Given the description of an element on the screen output the (x, y) to click on. 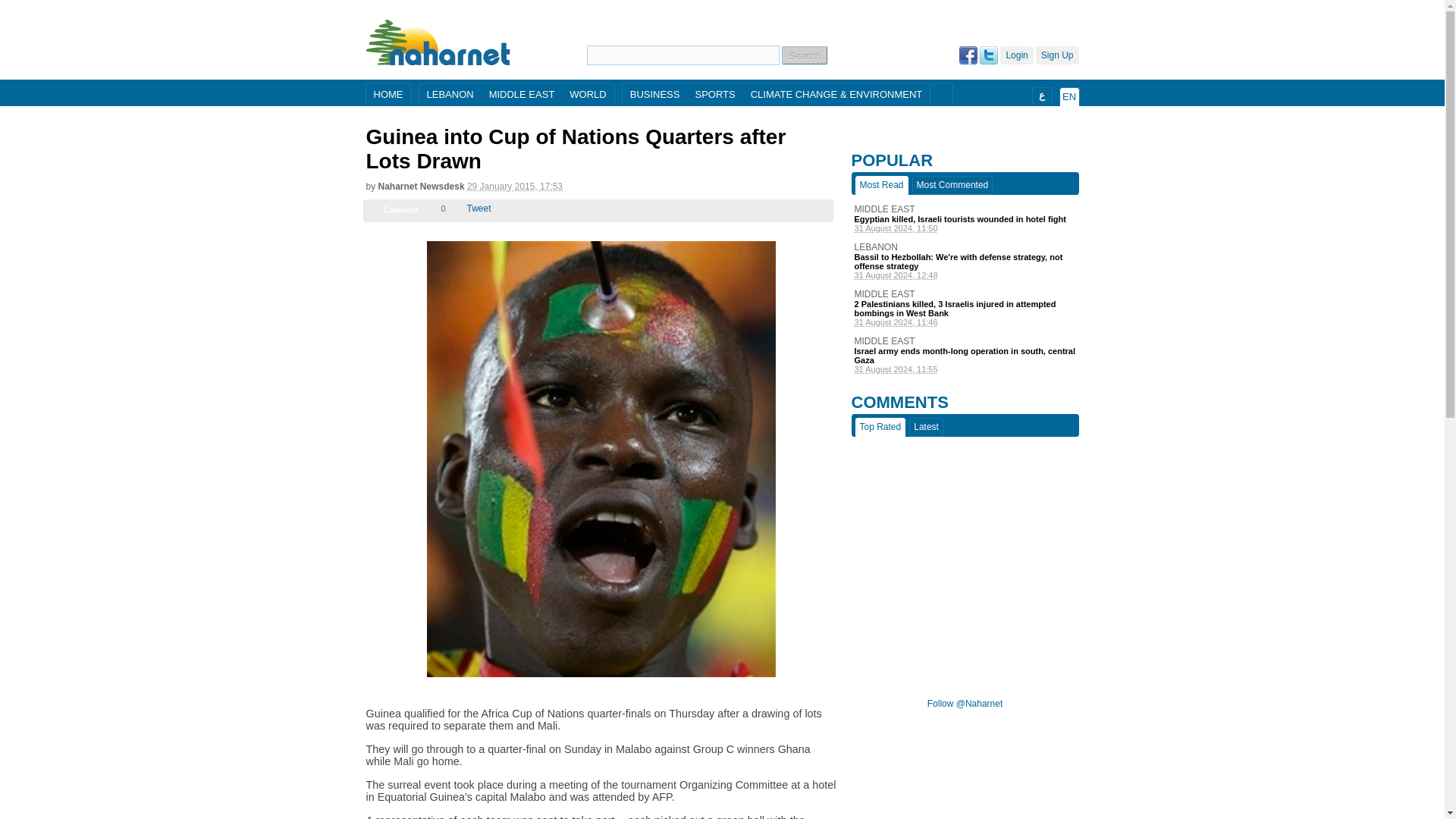
2024-08-31T08:55:46Z (964, 368)
Tweet (479, 208)
SPORTS (714, 95)
MIDDLE EAST (964, 340)
2015-01-29T15:53:16Z (514, 185)
HOME (387, 95)
WORLD (587, 95)
Search (804, 54)
MIDDLE EAST (521, 95)
